Given the description of an element on the screen output the (x, y) to click on. 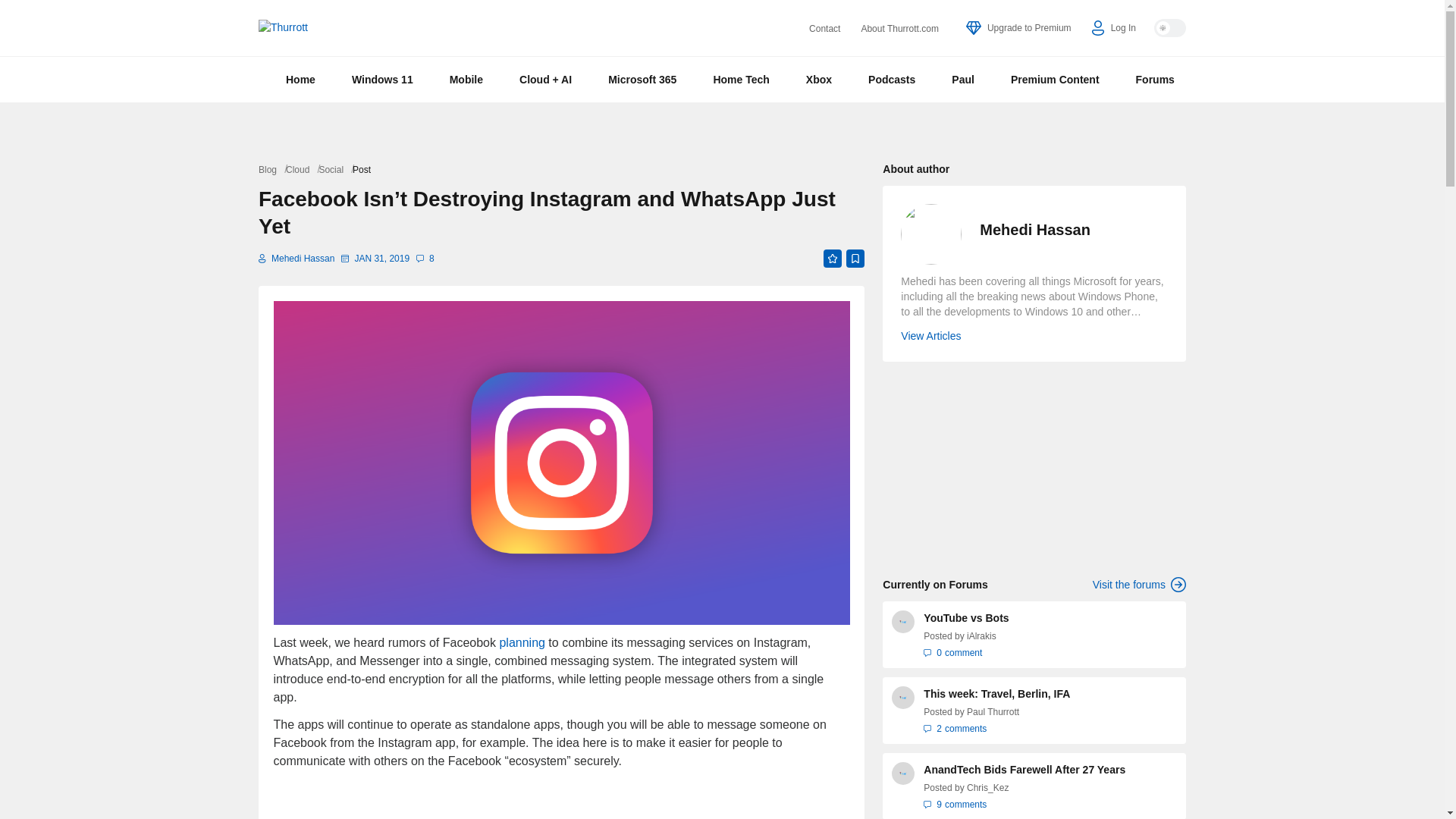
Home (300, 79)
Upgrade to Premium (1018, 28)
Microsoft 365 (641, 79)
Contact (824, 28)
Mobile (466, 79)
Windows 11 (382, 79)
Home Tech (740, 79)
Log In (1113, 28)
About Thurrott.com (899, 28)
